Given the description of an element on the screen output the (x, y) to click on. 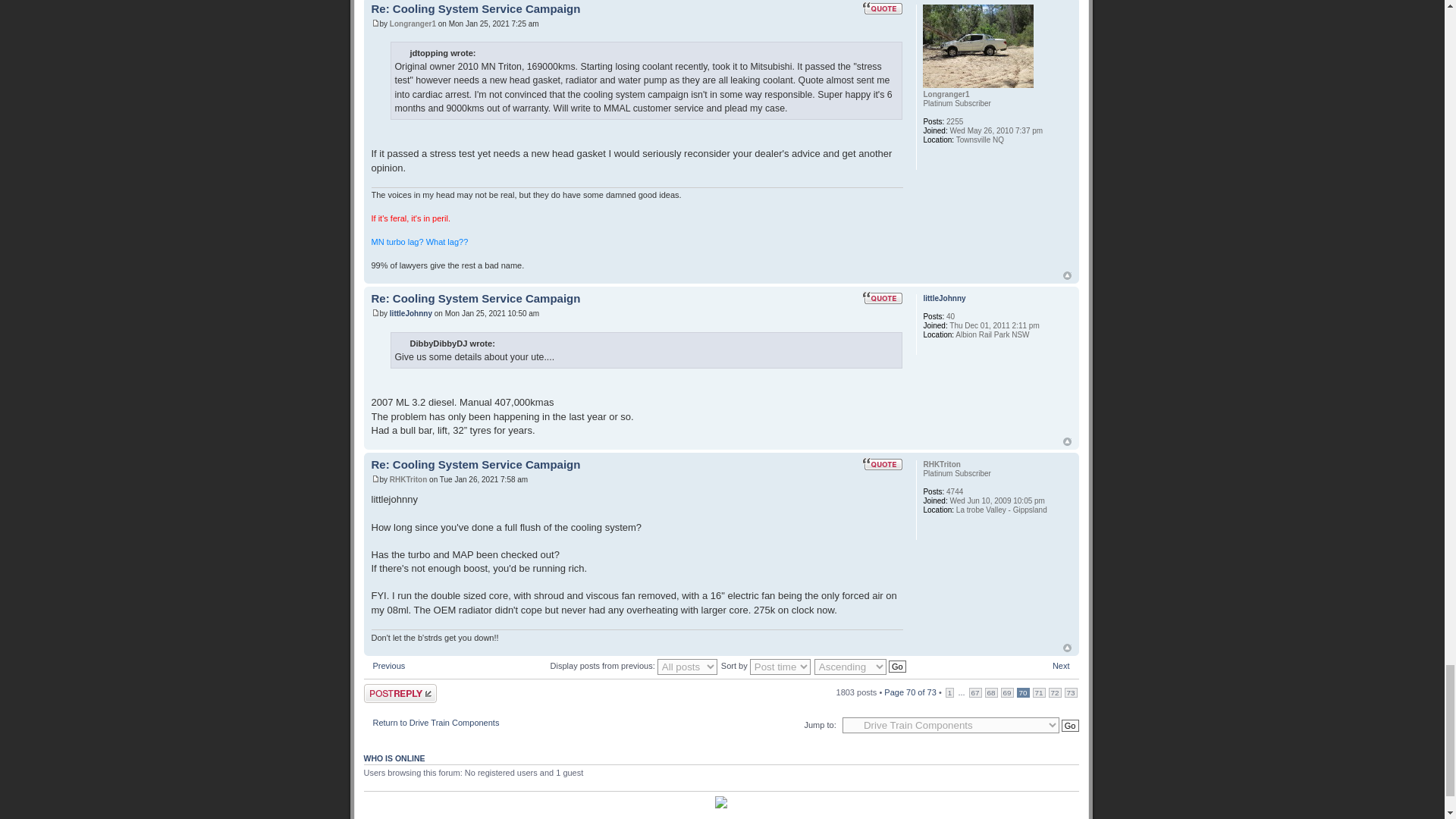
Go (1069, 725)
Go (896, 666)
